Given the description of an element on the screen output the (x, y) to click on. 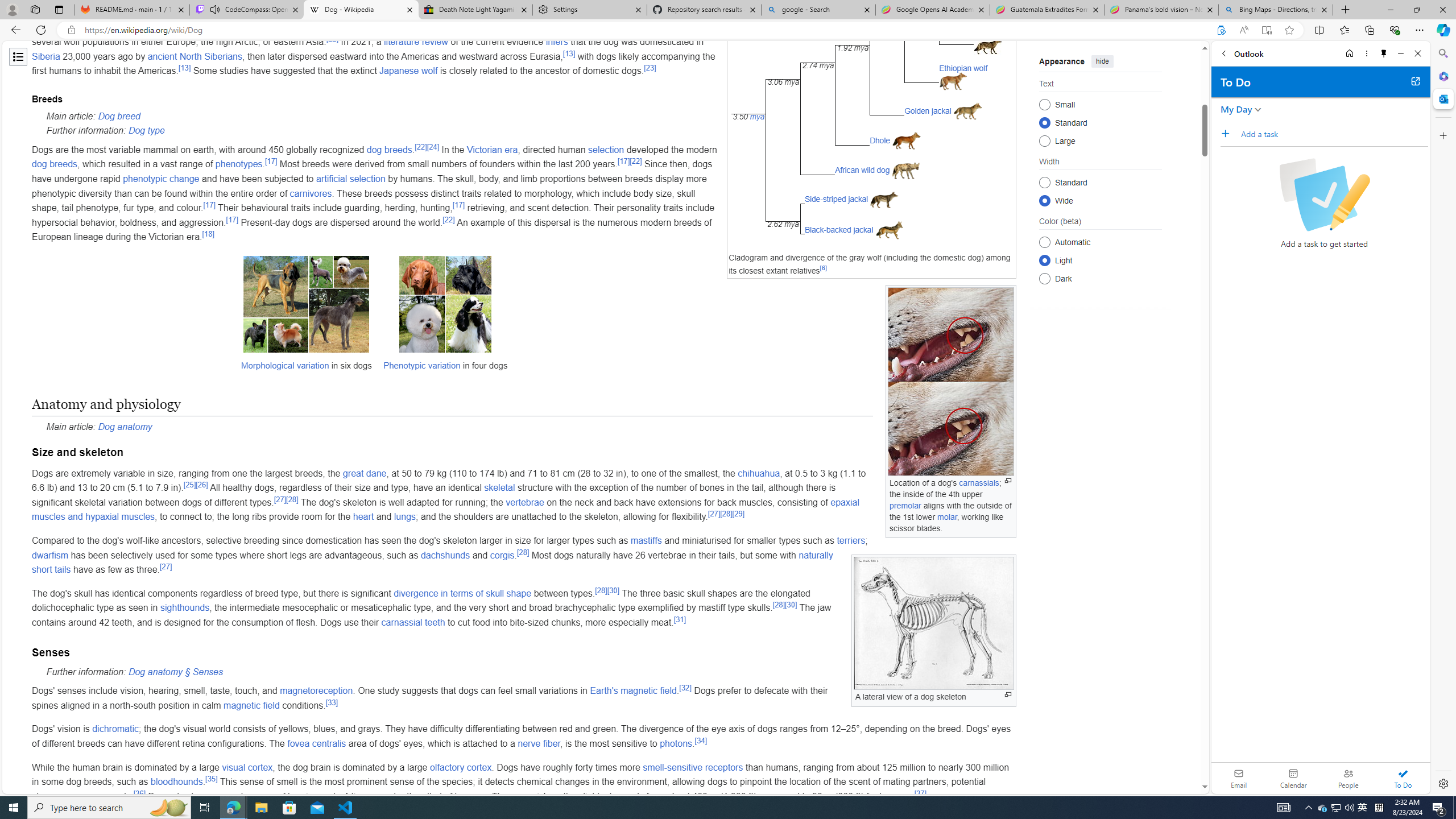
literature review (416, 41)
Add a task (1228, 133)
[22] (448, 219)
terriers (851, 539)
carnassial teeth (413, 621)
[29] (738, 513)
My Day (1236, 109)
divergence in terms of skull shape (462, 593)
[18] (208, 234)
